Given the description of an element on the screen output the (x, y) to click on. 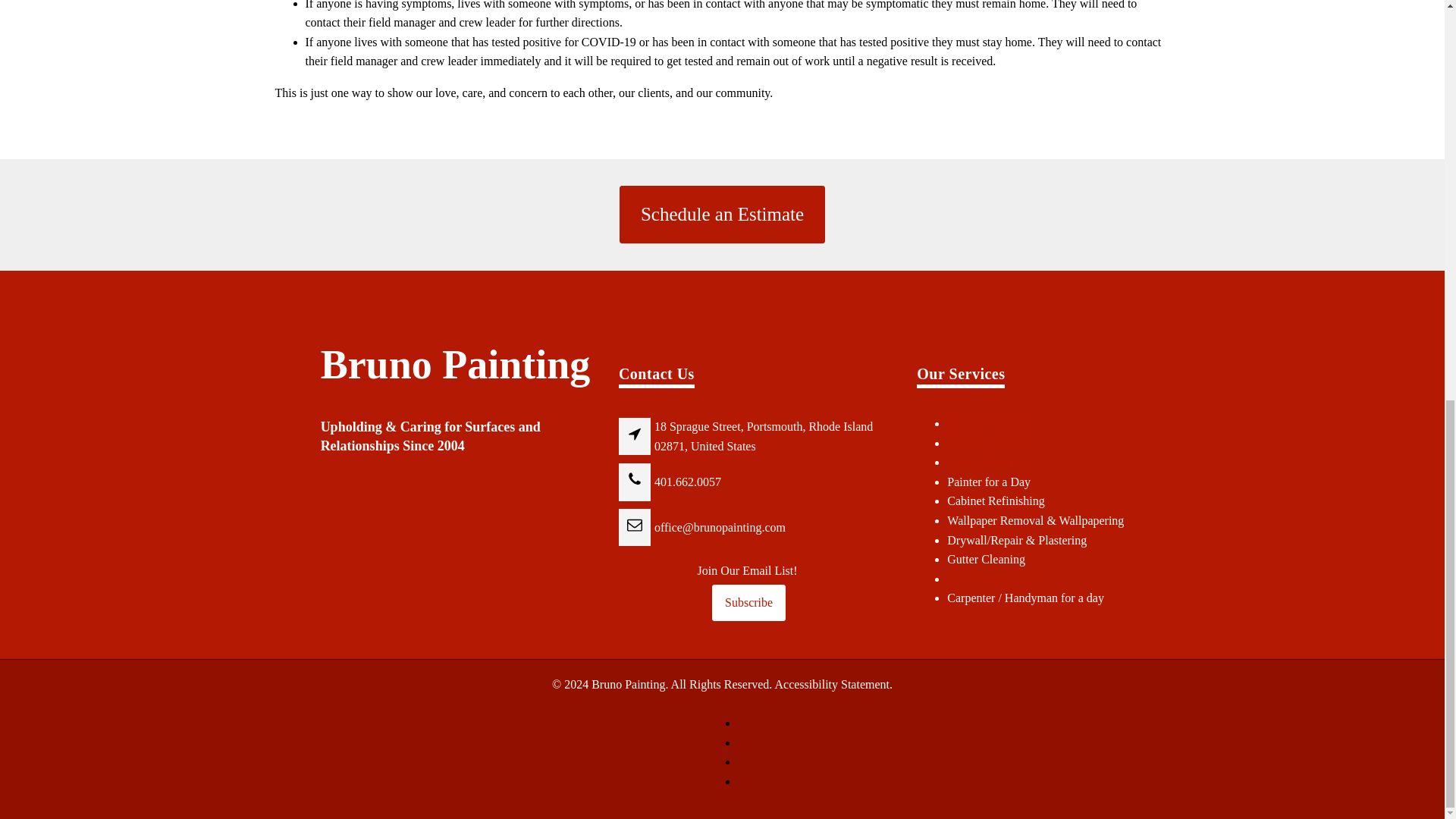
Accessibility Statement (831, 684)
Subscribe (748, 602)
401.662.0057 (687, 482)
Interior Painting (986, 422)
All Carpentry Needs (996, 578)
Exterior Painting (988, 442)
Power Washing (985, 461)
Schedule an Estimate (722, 214)
